Given the description of an element on the screen output the (x, y) to click on. 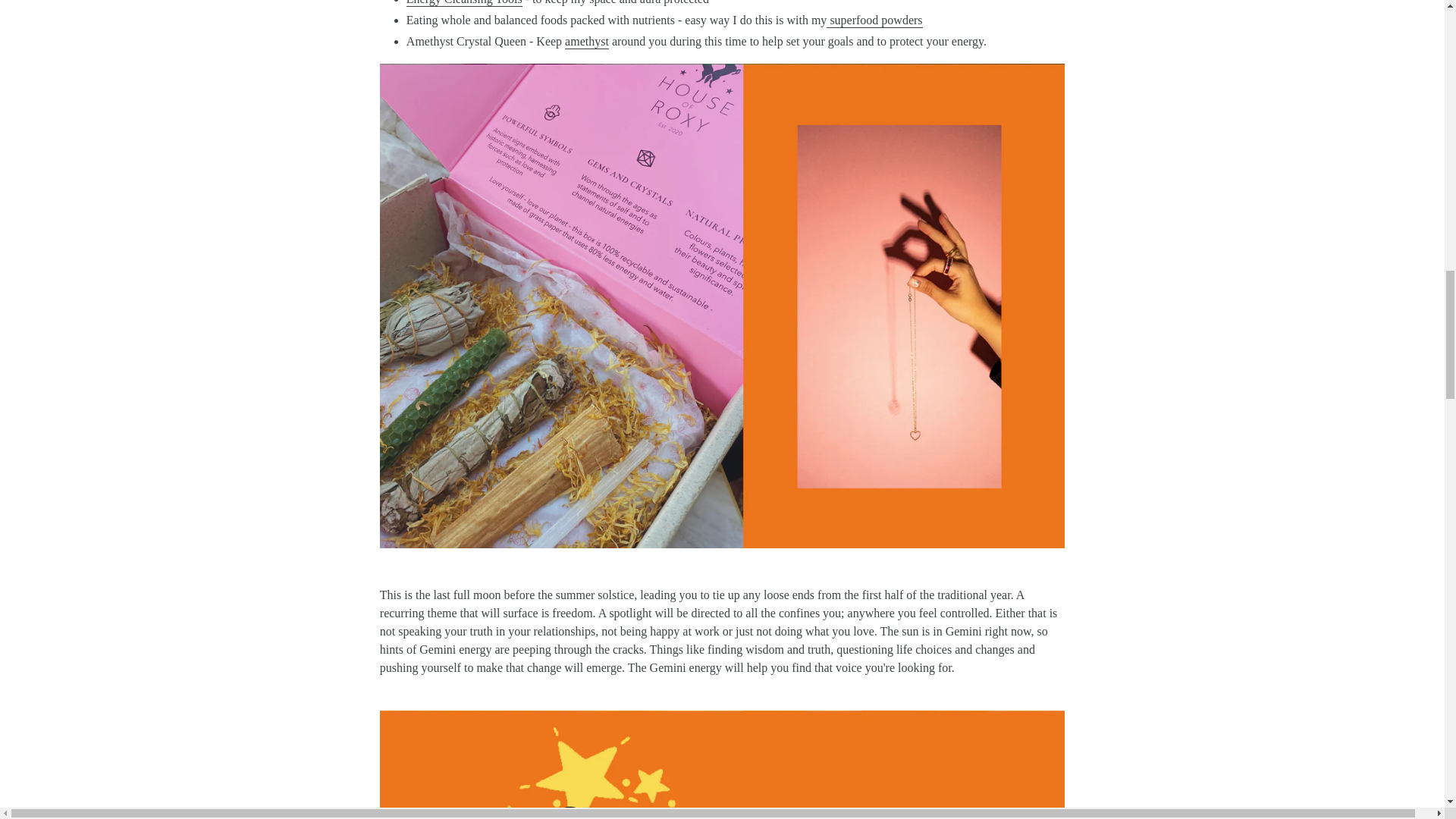
amethyst crystal, tumble stone crystal  (586, 42)
incense, sage stick, smudge sticks, smokeless smudging spray (464, 3)
